Given the description of an element on the screen output the (x, y) to click on. 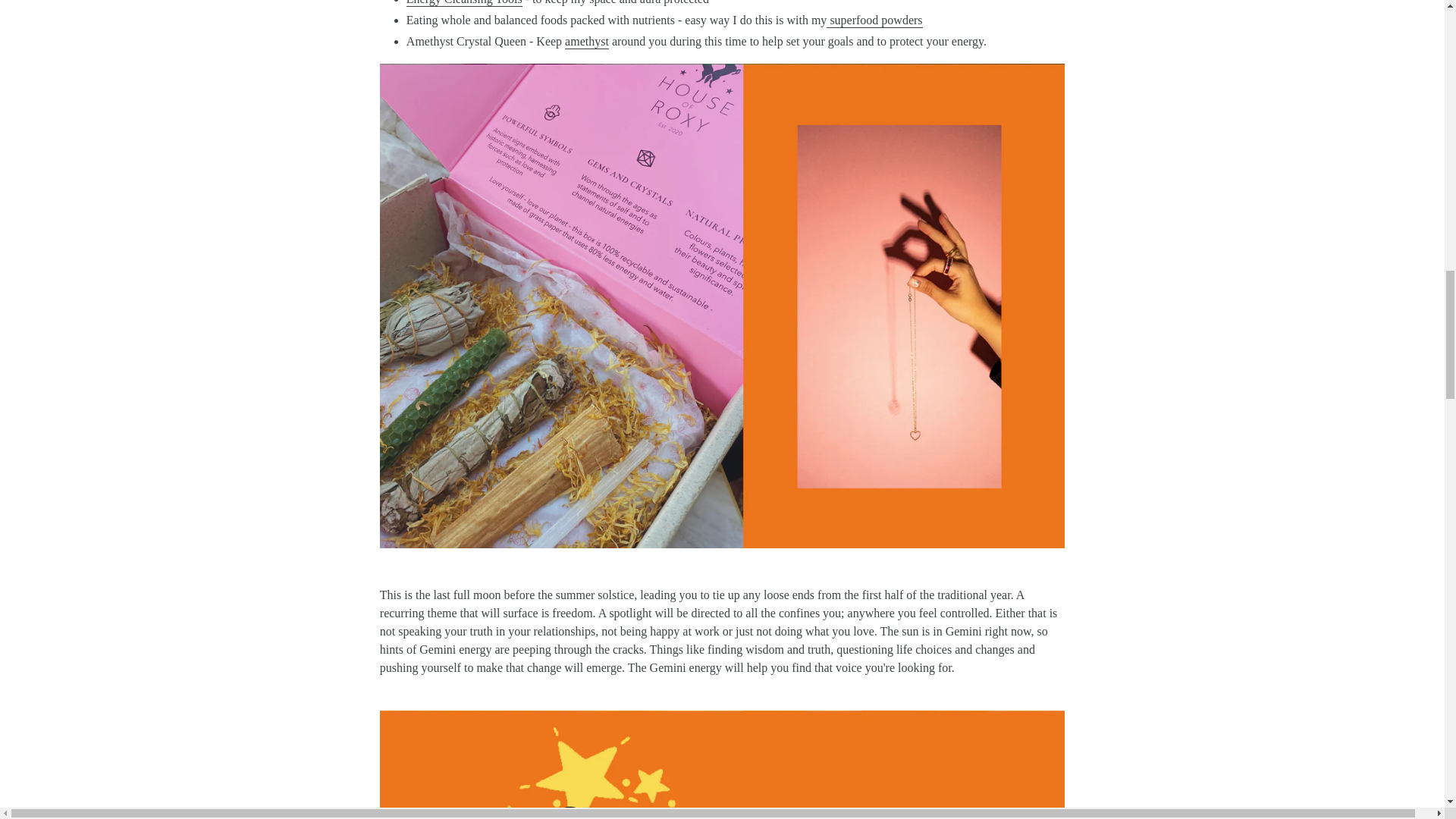
amethyst crystal, tumble stone crystal  (586, 42)
incense, sage stick, smudge sticks, smokeless smudging spray (464, 3)
